Given the description of an element on the screen output the (x, y) to click on. 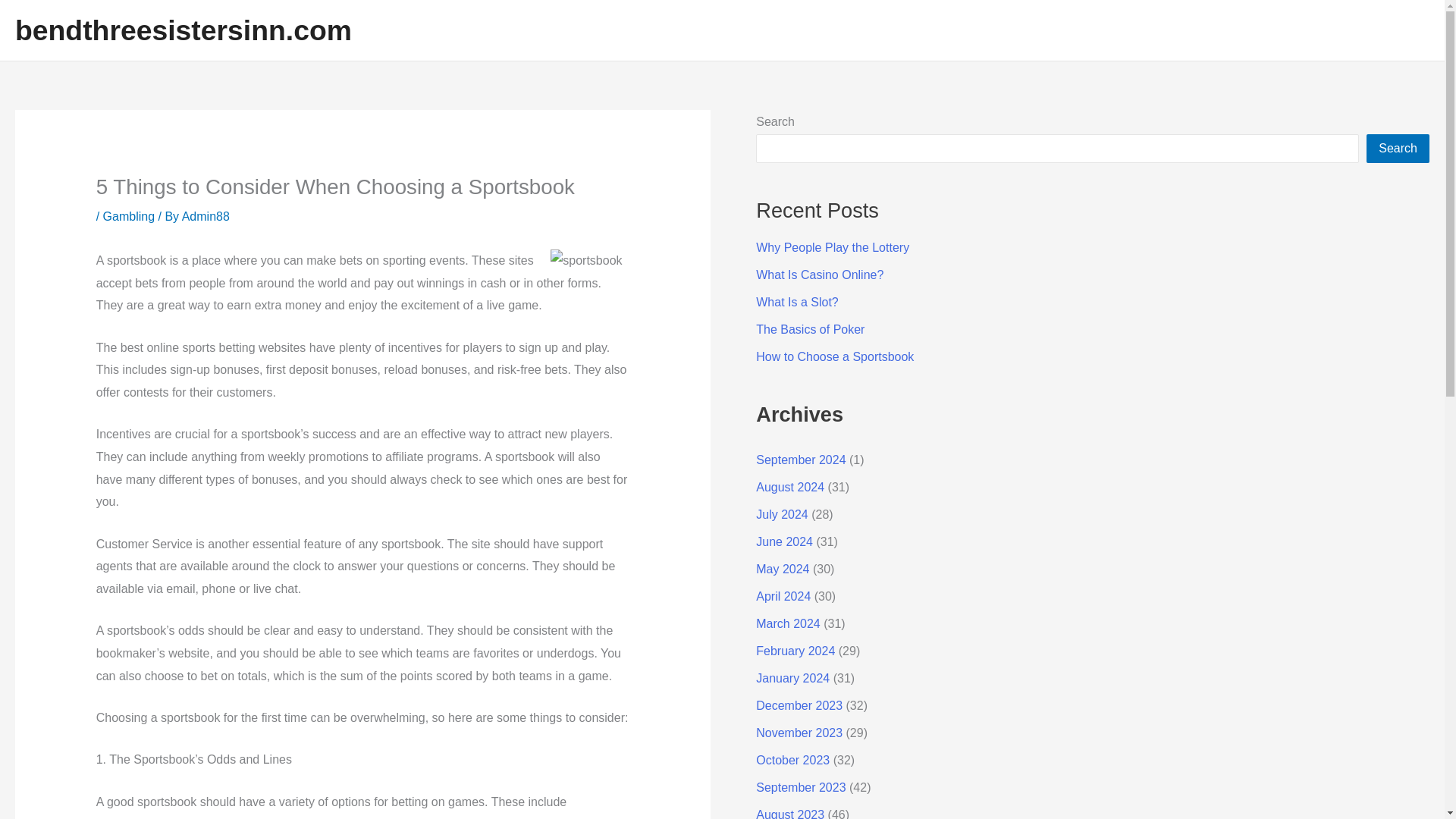
August 2024 (789, 486)
July 2024 (781, 513)
September 2023 (800, 787)
May 2024 (782, 568)
The Basics of Poker (809, 328)
November 2023 (799, 732)
March 2024 (788, 623)
October 2023 (792, 759)
April 2024 (782, 595)
Search (1398, 148)
